Given the description of an element on the screen output the (x, y) to click on. 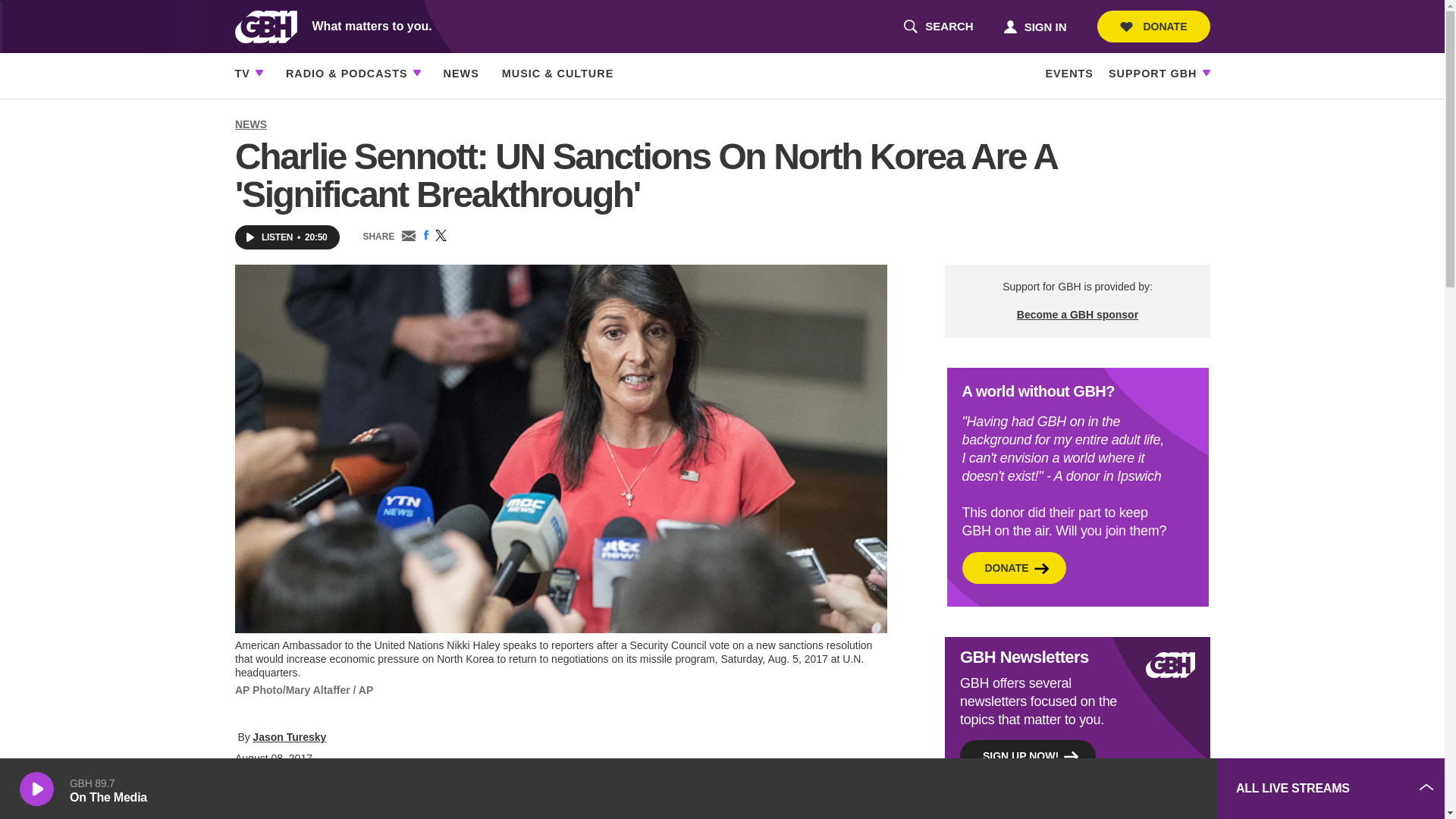
SIGN IN (1034, 25)
DONATE (937, 26)
